Given the description of an element on the screen output the (x, y) to click on. 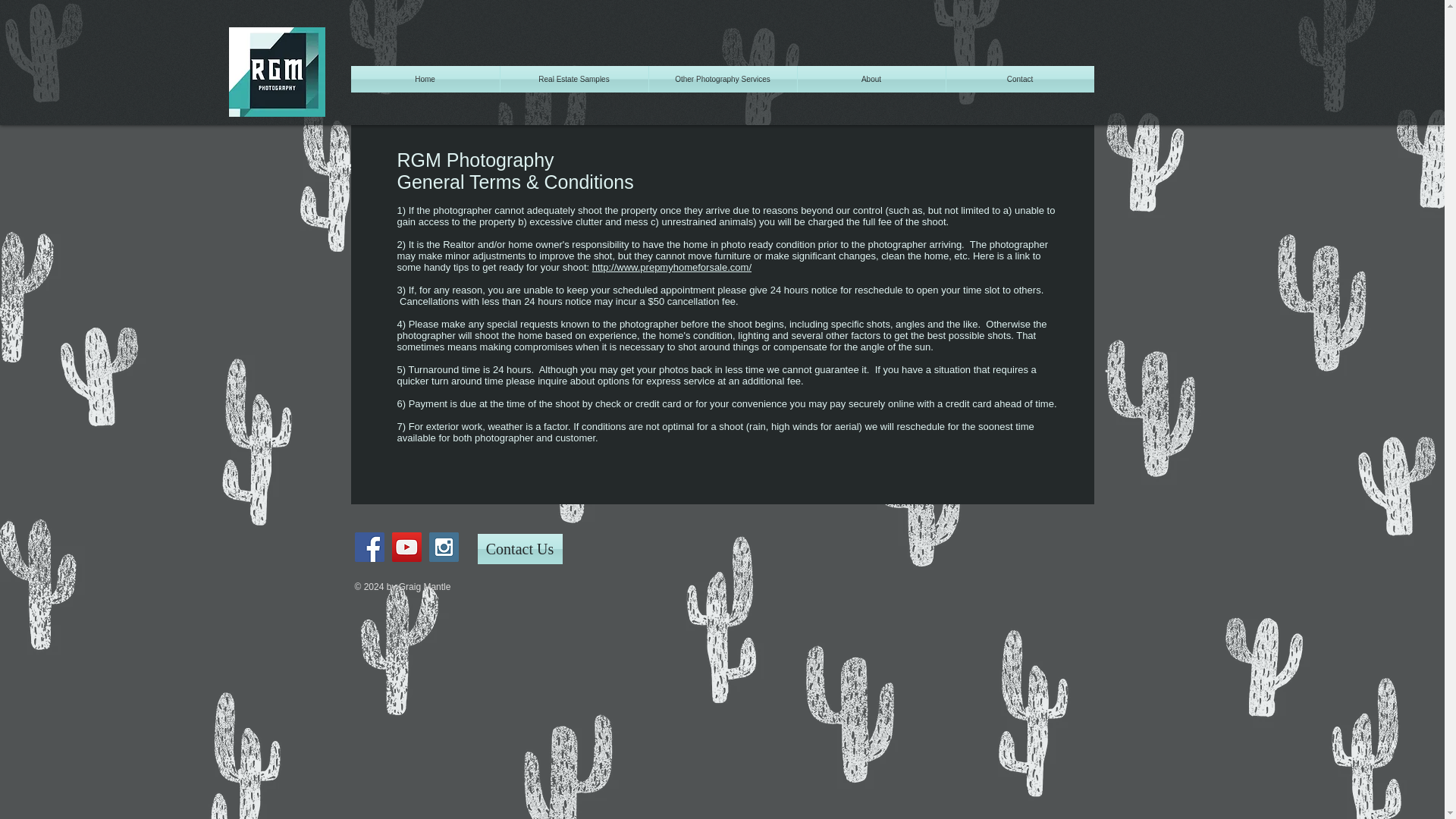
Contact Us (519, 548)
Real Estate Samples (573, 79)
Contact (1020, 79)
About (870, 79)
Other Photography Services (722, 79)
Home (424, 79)
